Given the description of an element on the screen output the (x, y) to click on. 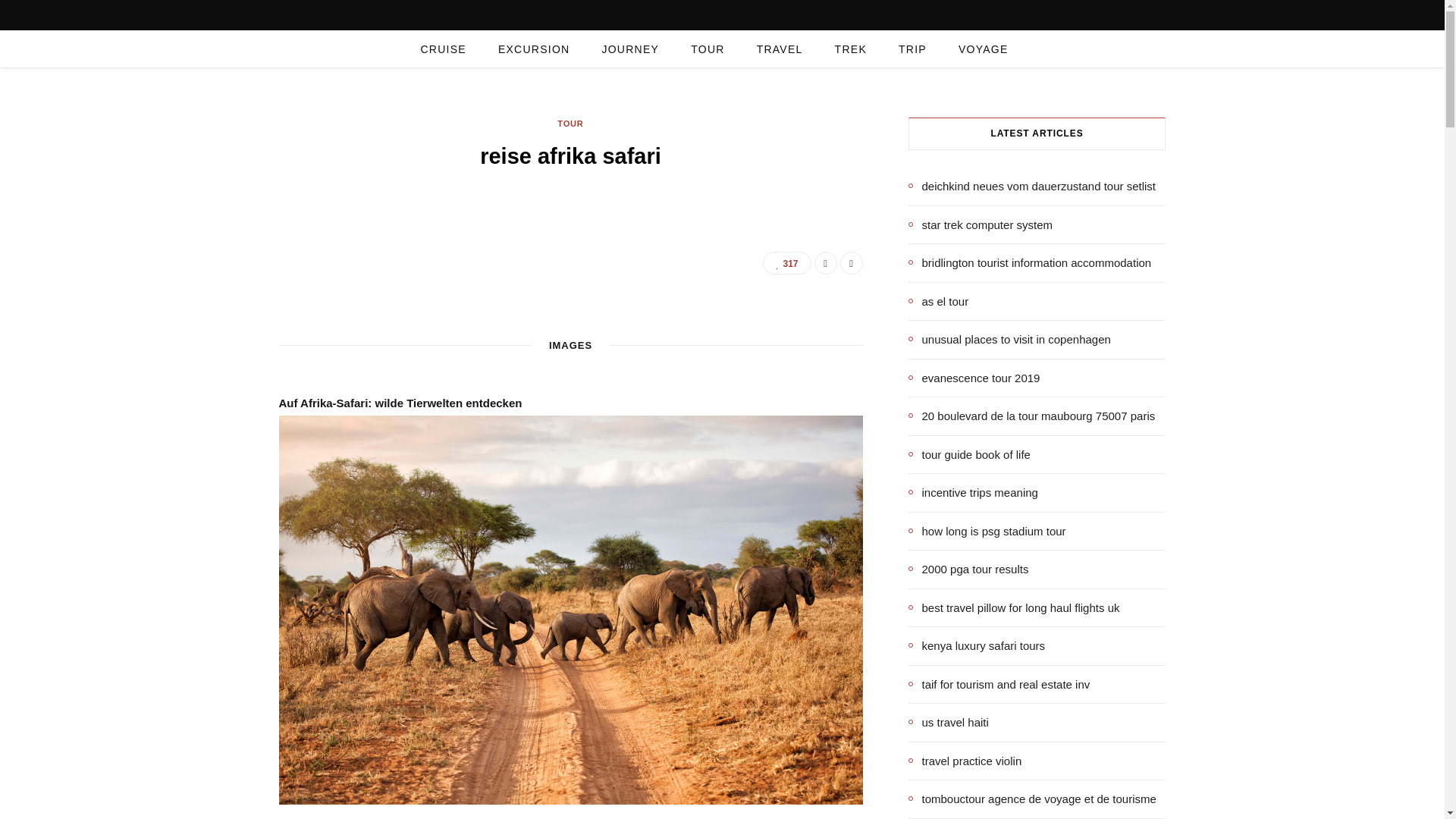
bridlington tourist information accommodation (1029, 262)
deichkind neues vom dauerzustand tour setlist (1032, 186)
tombouctour agence de voyage et de tourisme (1032, 799)
how long is psg stadium tour (986, 531)
kenya luxury safari tours (976, 646)
as el tour (938, 301)
TOUR (707, 48)
EXCURSION (533, 48)
TOUR (570, 123)
star trek computer system (980, 225)
2000 pga tour results (968, 569)
best travel pillow for long haul flights uk (1013, 607)
CRUISE (442, 48)
travel practice violin (965, 760)
20 boulevard de la tour maubourg 75007 paris (1032, 415)
